Given the description of an element on the screen output the (x, y) to click on. 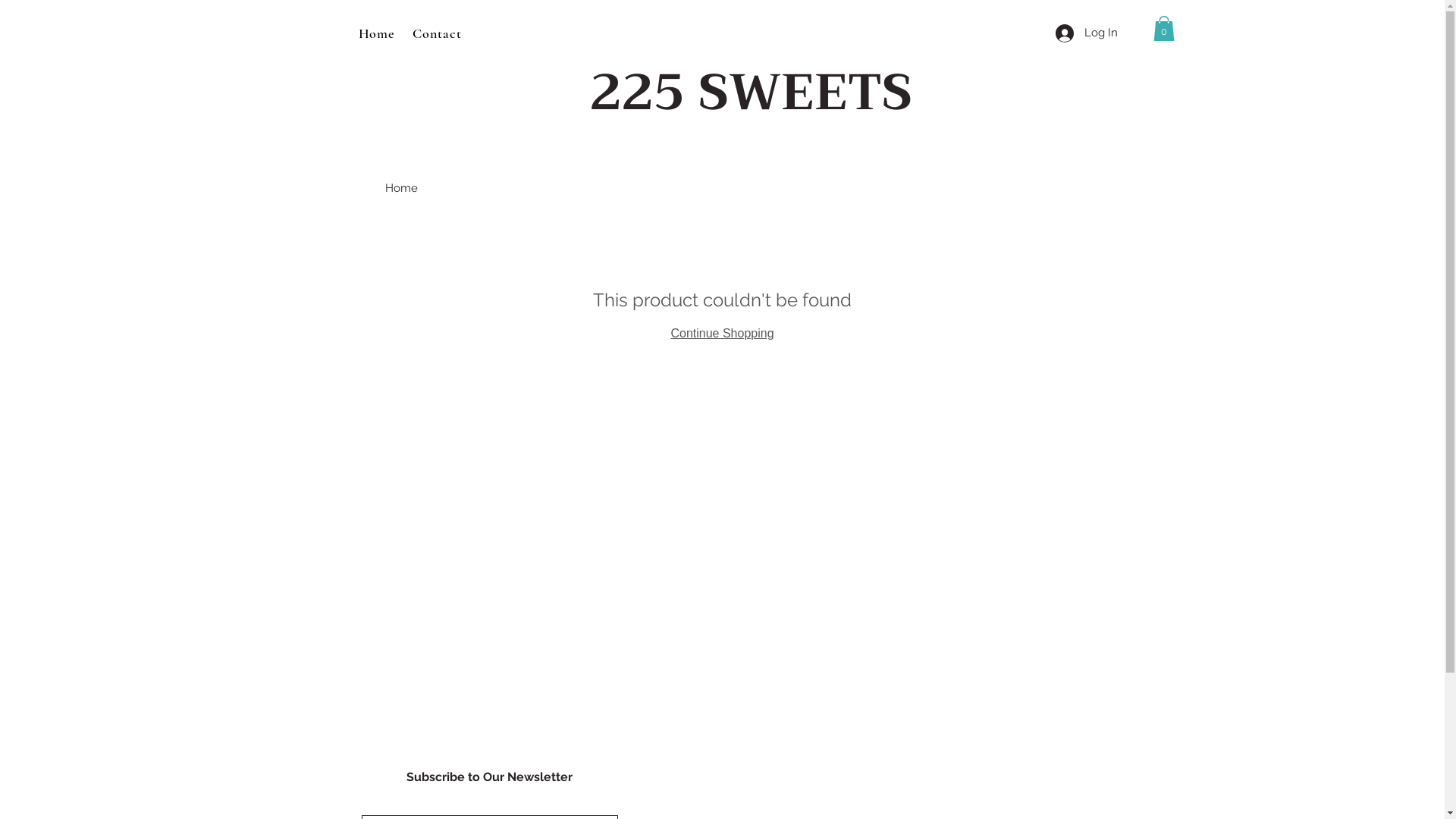
Log In Element type: text (1086, 33)
Home Element type: text (375, 33)
0 Element type: text (1162, 27)
Continue Shopping Element type: text (721, 332)
Contact Element type: text (436, 33)
225 SWEETS Element type: text (750, 92)
Home Element type: text (401, 187)
